Given the description of an element on the screen output the (x, y) to click on. 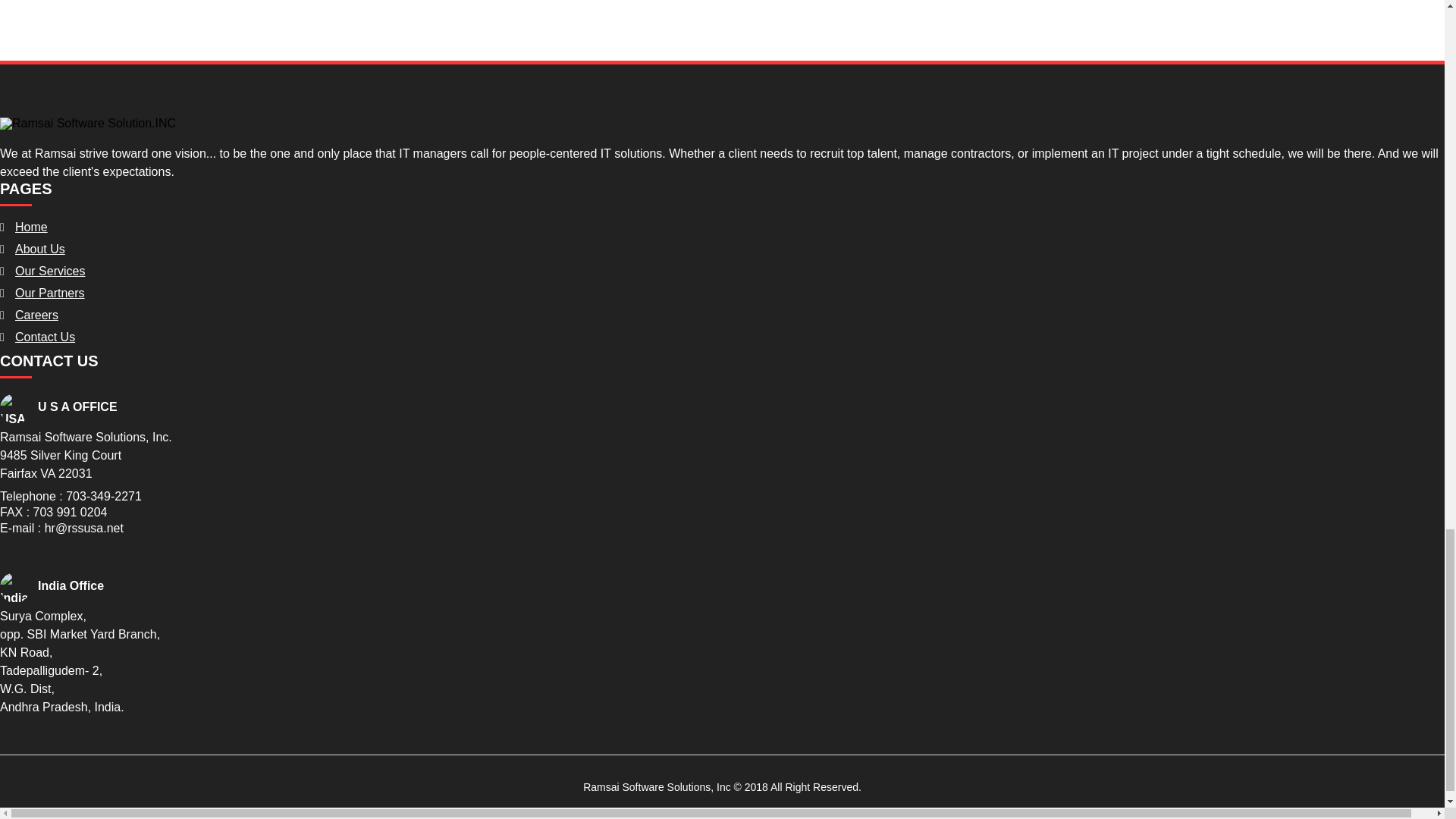
Telephone : 703-349-2271 (70, 495)
Contact Us (44, 336)
Home (31, 226)
Our Partners (49, 292)
About Us (39, 248)
Our Services (49, 270)
Careers (36, 314)
FAX : 703 991 0204 (53, 512)
Ramsai Software Solution.INC (88, 123)
